Given the description of an element on the screen output the (x, y) to click on. 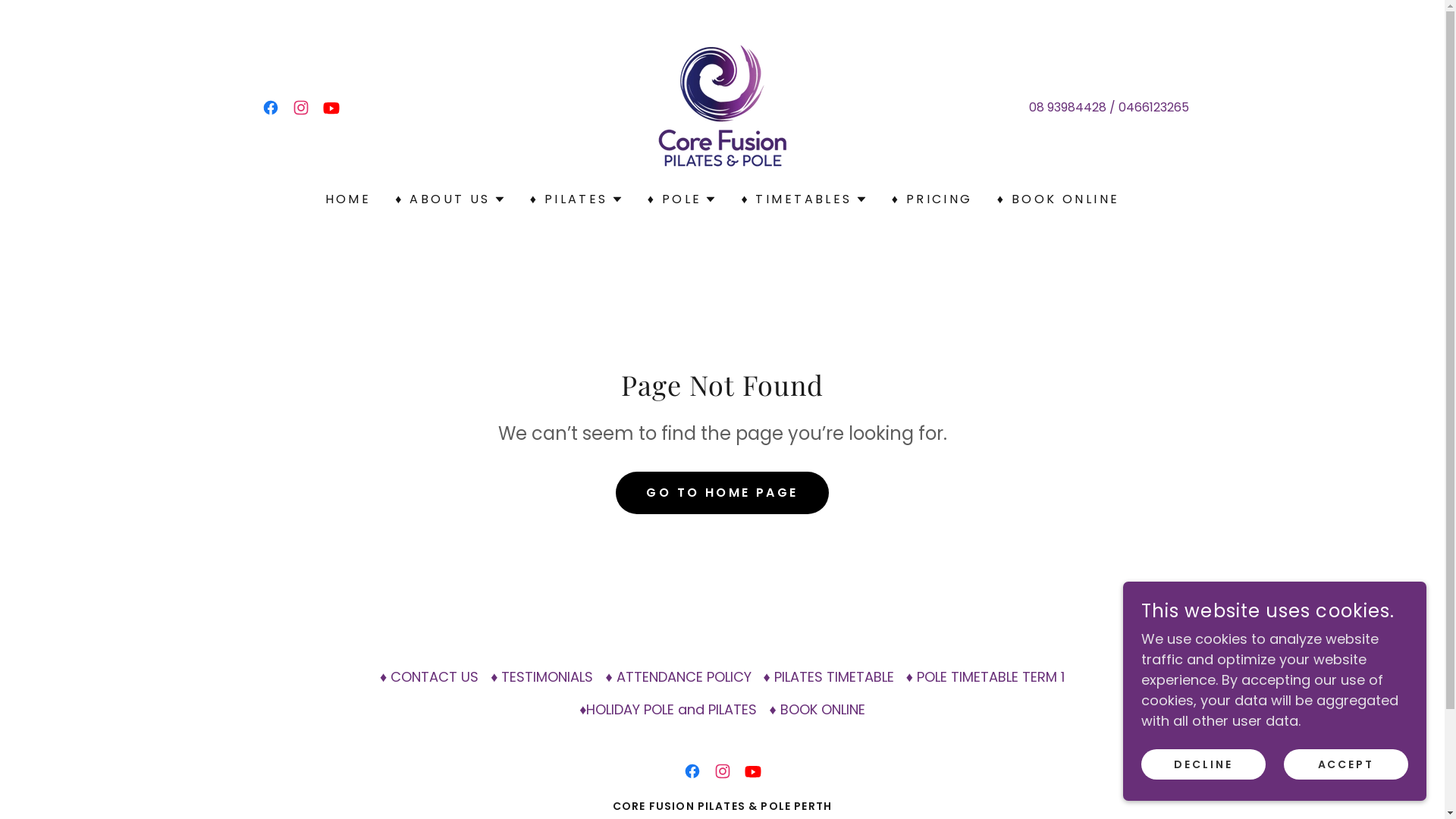
ACCEPT Element type: text (1345, 764)
08 93984428 Element type: text (1067, 107)
GO TO HOME PAGE Element type: text (721, 492)
DECLINE Element type: text (1203, 764)
Core Fusion Pilates & Pole Perth Element type: hover (722, 105)
0466123265 Element type: text (1153, 107)
HOME Element type: text (348, 199)
